Given the description of an element on the screen output the (x, y) to click on. 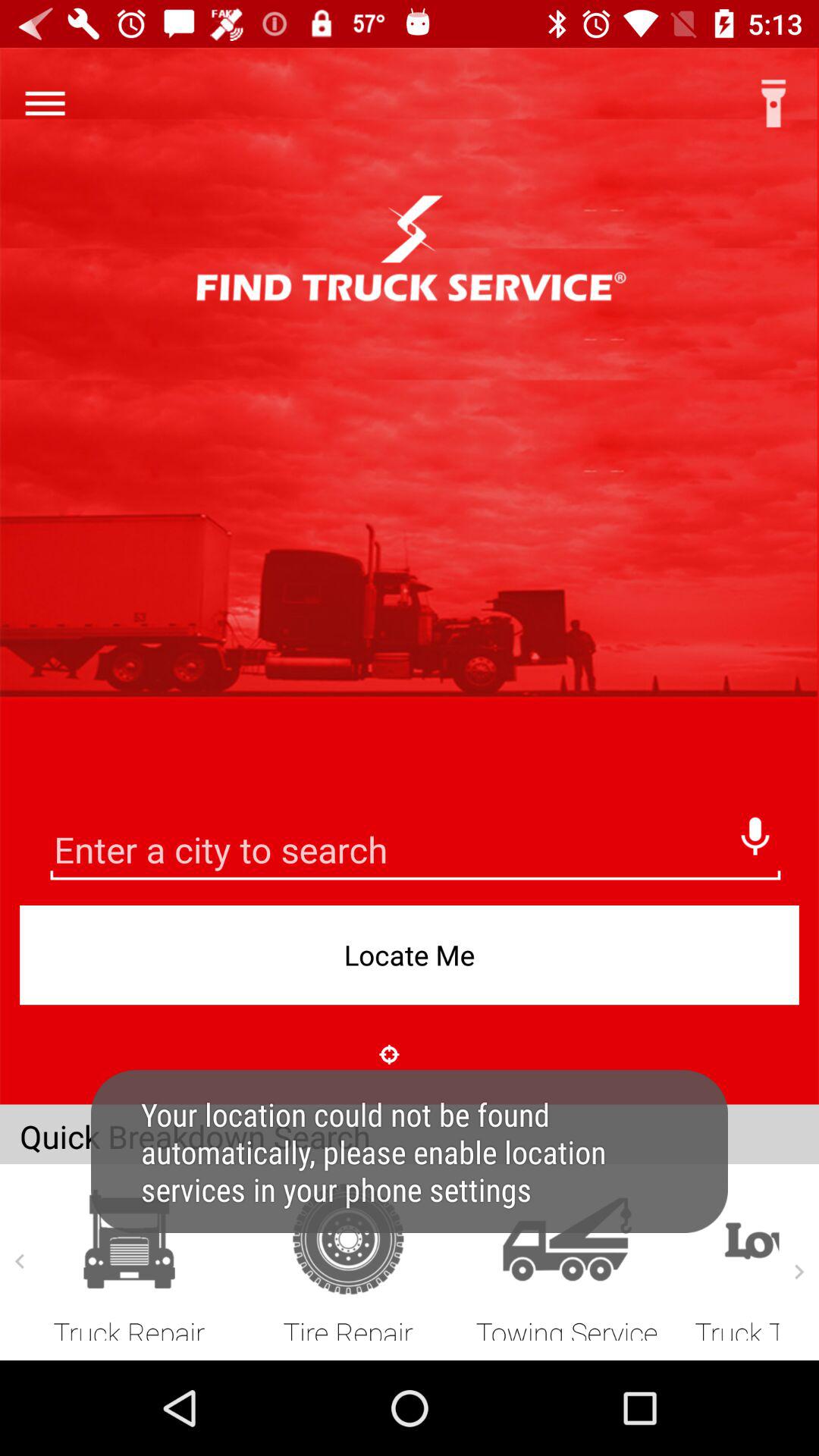
search bar (415, 851)
